Given the description of an element on the screen output the (x, y) to click on. 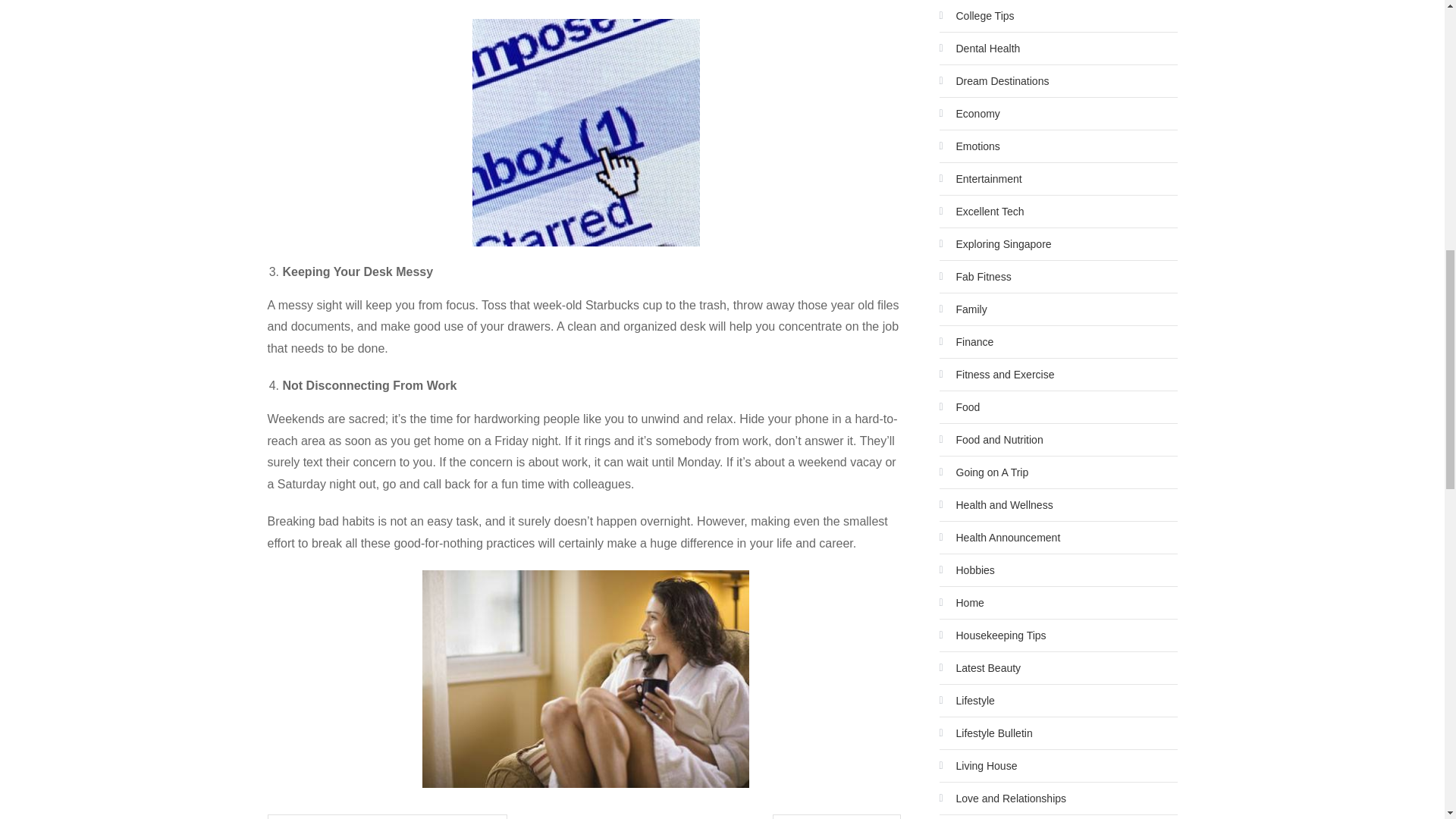
5 Nappy Care Tips Every Parent Must Know (386, 816)
Excellent Tech (981, 211)
Exploring Singapore (995, 243)
Pet-Friendly Hotels   (837, 816)
Fab Fitness (974, 276)
College Tips (976, 15)
Emotions (968, 146)
Dental Health (979, 48)
Economy (968, 113)
Family (963, 309)
Dream Destinations (993, 80)
Entertainment (980, 178)
